Given the description of an element on the screen output the (x, y) to click on. 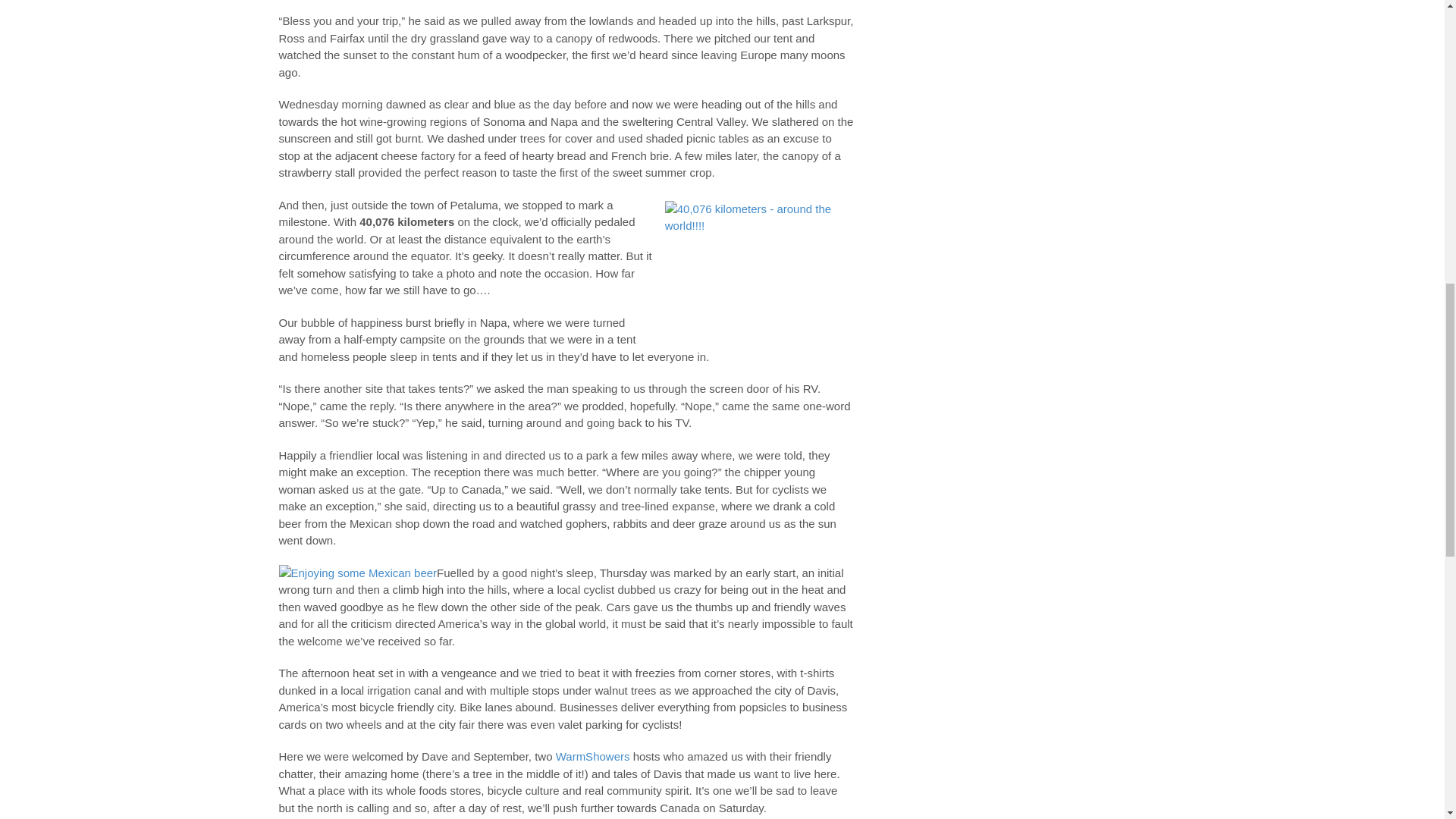
40,076 kilometers - around the world!!!! (759, 264)
WarmShowers (593, 756)
Enjoying some Mexican beer (358, 573)
